Given the description of an element on the screen output the (x, y) to click on. 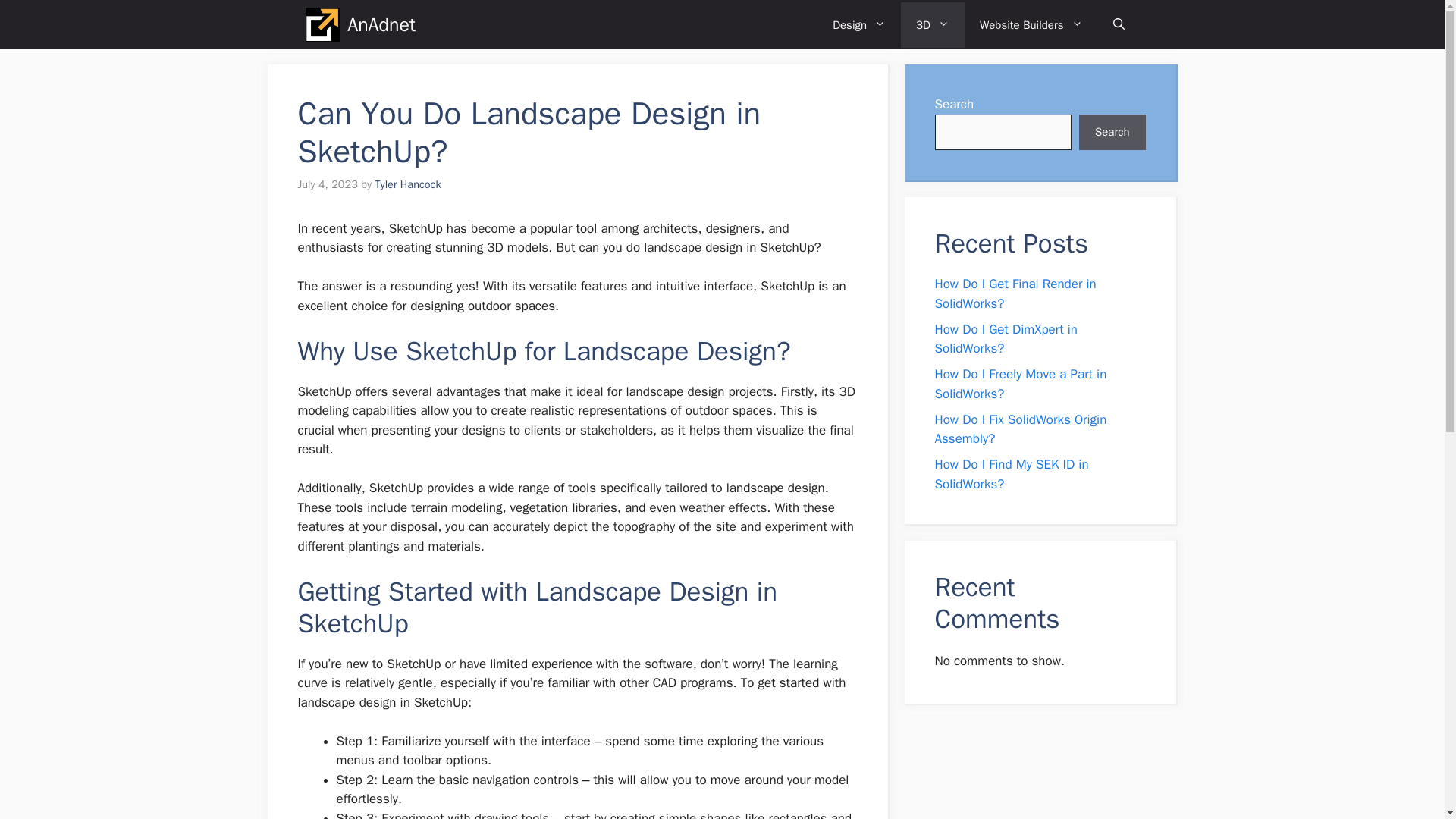
Search (1111, 131)
How Do I Freely Move a Part in SolidWorks? (1020, 384)
AnAdnet (380, 24)
Tyler Hancock (407, 183)
How Do I Get DimXpert in SolidWorks? (1005, 339)
How Do I Get Final Render in SolidWorks? (1015, 294)
3D (932, 23)
How Do I Fix SolidWorks Origin Assembly? (1020, 428)
How Do I Find My SEK ID in SolidWorks? (1010, 474)
View all posts by Tyler Hancock (407, 183)
